Given the description of an element on the screen output the (x, y) to click on. 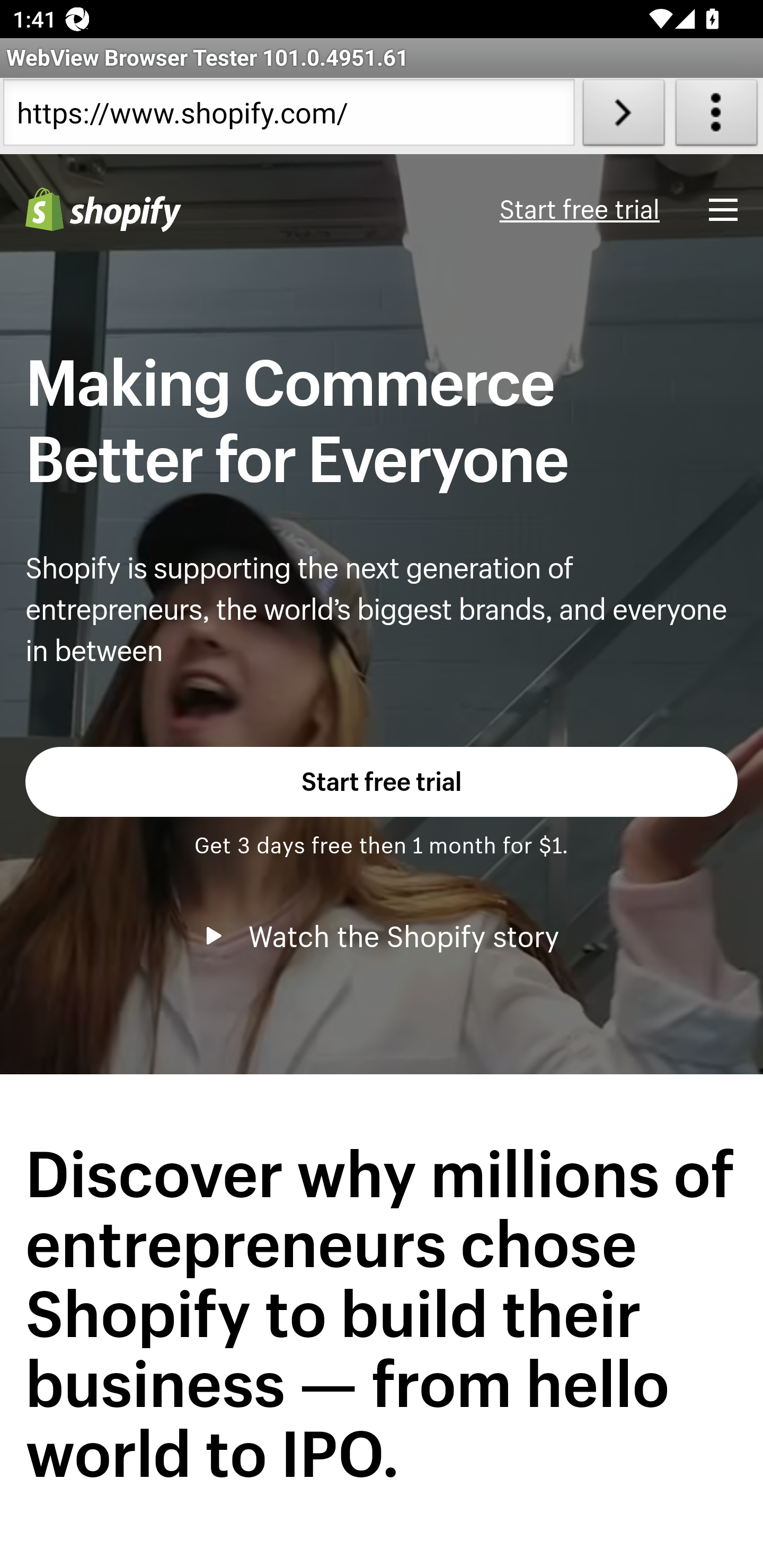
https://www.shopify.com/ (288, 115)
Load URL (623, 115)
About WebView (716, 115)
Menu (723, 208)
Shopify (103, 210)
Start free trial (579, 209)
Start free trial (381, 781)
Watch the Shopify story (381, 936)
